Given the description of an element on the screen output the (x, y) to click on. 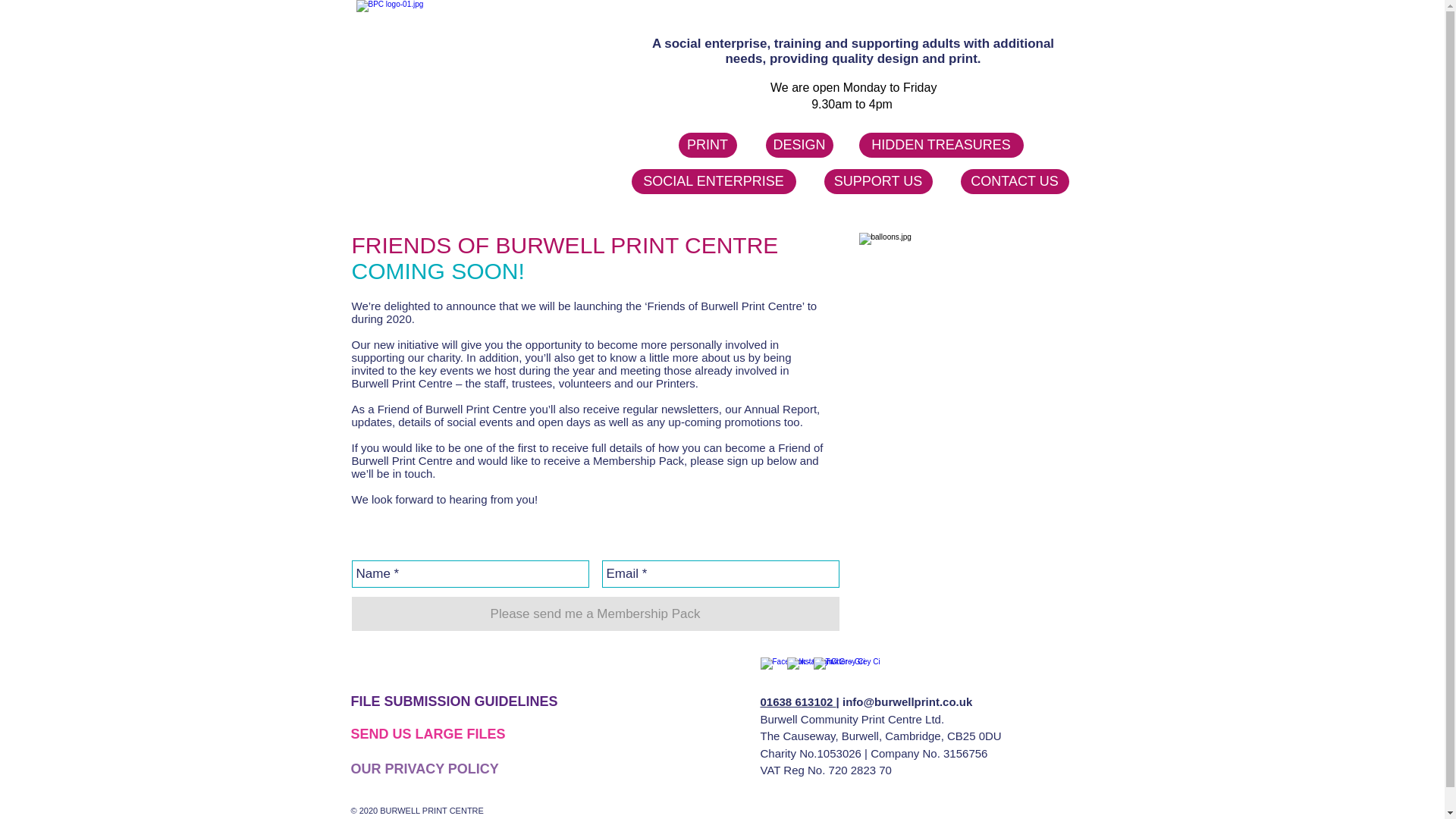
SOCIAL ENTERPRISE (712, 181)
FILE SUBMISSION GUIDELINES (453, 701)
HIDDEN TREASURES (941, 145)
SEND US LARGE FILES (427, 734)
PRINT (707, 145)
01638 613102 (797, 701)
CONTACT US (1013, 181)
SUPPORT US (877, 181)
DESIGN (798, 145)
Please send me a Membership Pack (596, 613)
